Given the description of an element on the screen output the (x, y) to click on. 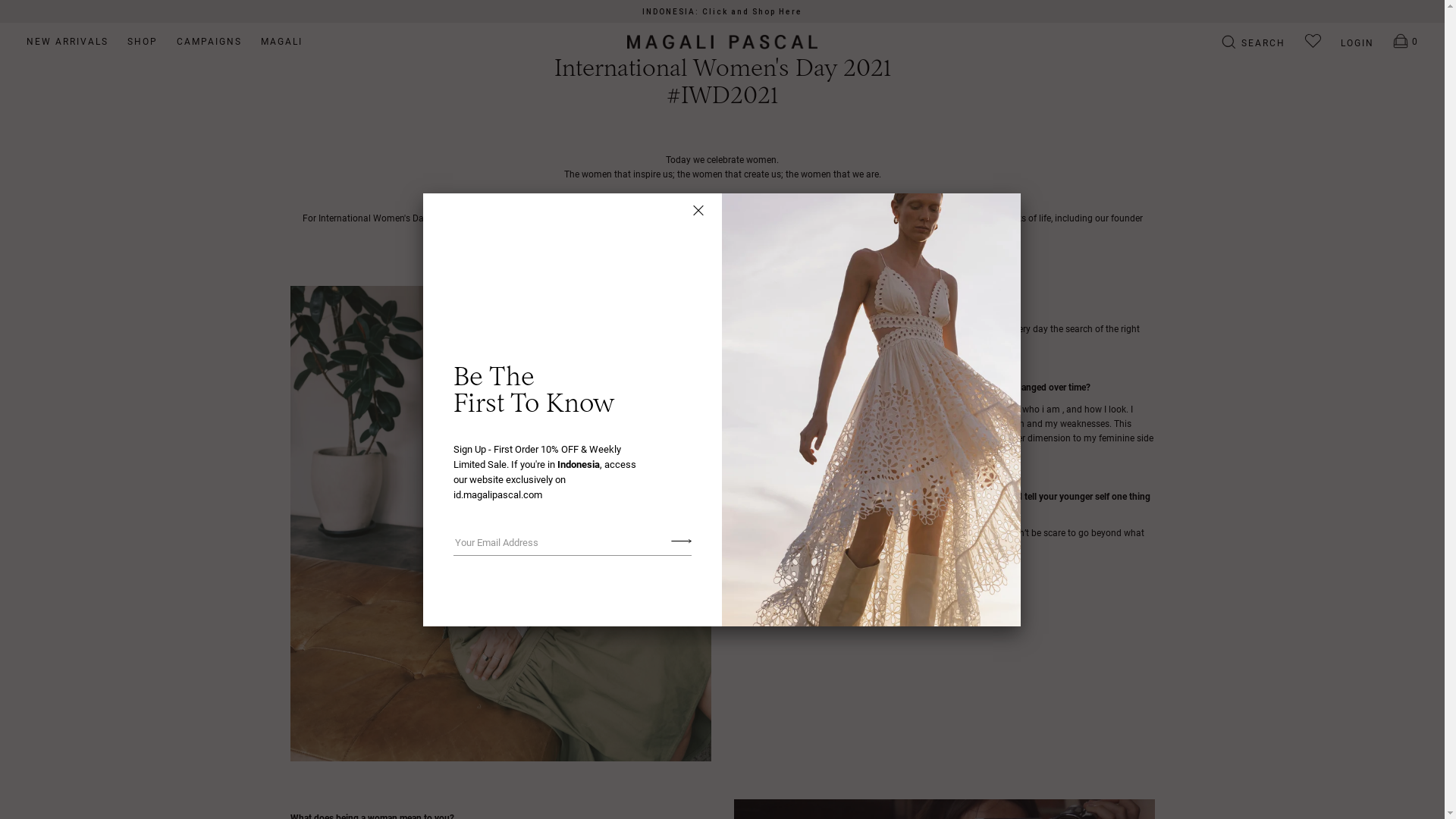
id.magalipascal.com Element type: text (497, 494)
SHOP Element type: text (142, 41)
CAMPAIGNS Element type: text (208, 41)
NEW ARRIVALS Element type: text (67, 41)
MAGALI Element type: text (281, 41)
INDONESIA: Click and Shop Here Element type: text (722, 11)
0 Element type: text (1396, 42)
SEARCH Element type: text (1253, 42)
LOGIN Element type: text (1347, 42)
